Given the description of an element on the screen output the (x, y) to click on. 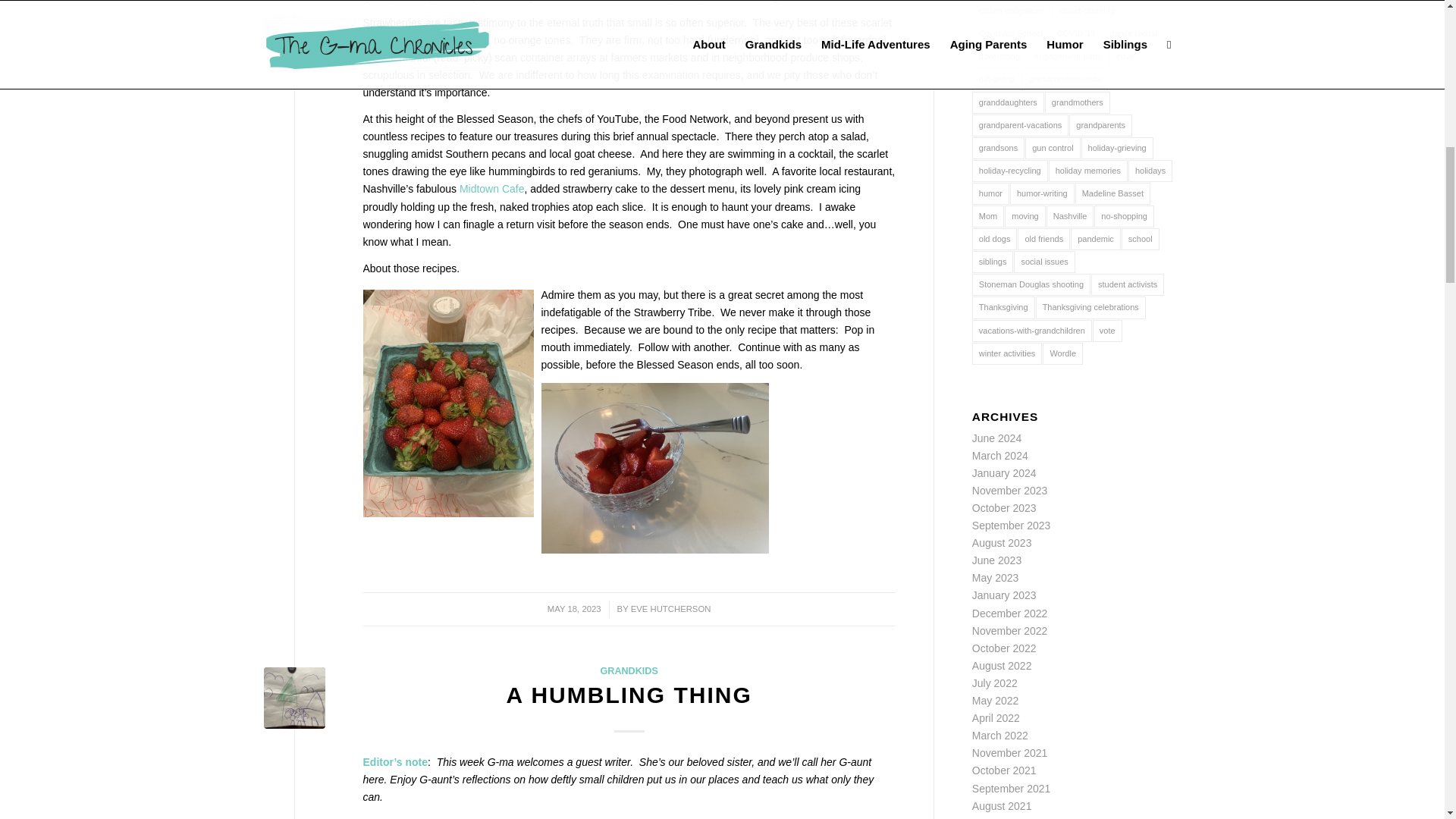
EVE HUTCHERSON (670, 608)
Midtown Cafe (492, 188)
A HUMBLING THING (629, 694)
GRANDKIDS (628, 670)
Posts by Eve Hutcherson (670, 608)
Permanent Link: A Humbling Thing (629, 694)
